Given the description of an element on the screen output the (x, y) to click on. 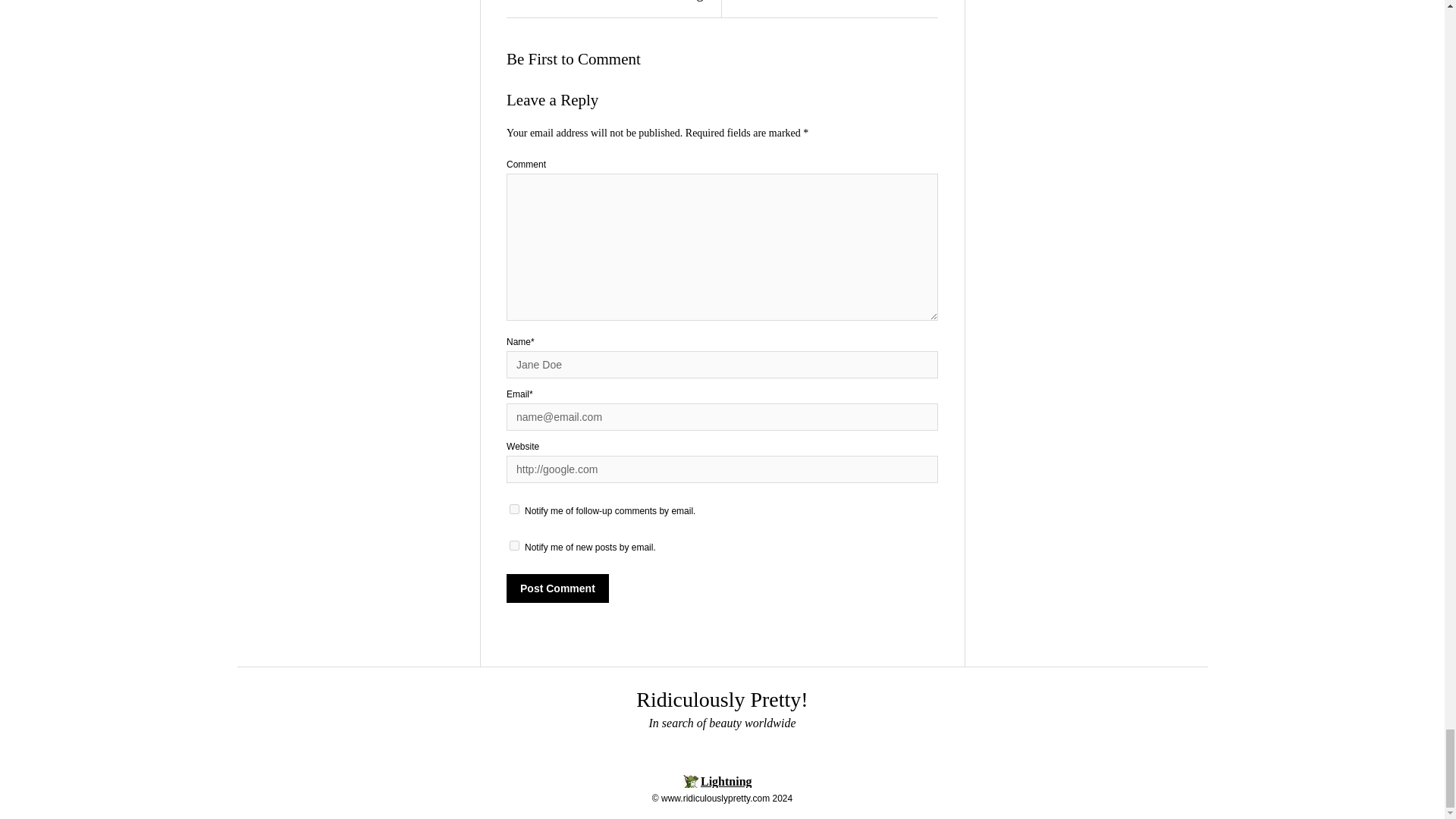
subscribe (514, 545)
subscribe (514, 509)
Post Comment (557, 588)
